Given the description of an element on the screen output the (x, y) to click on. 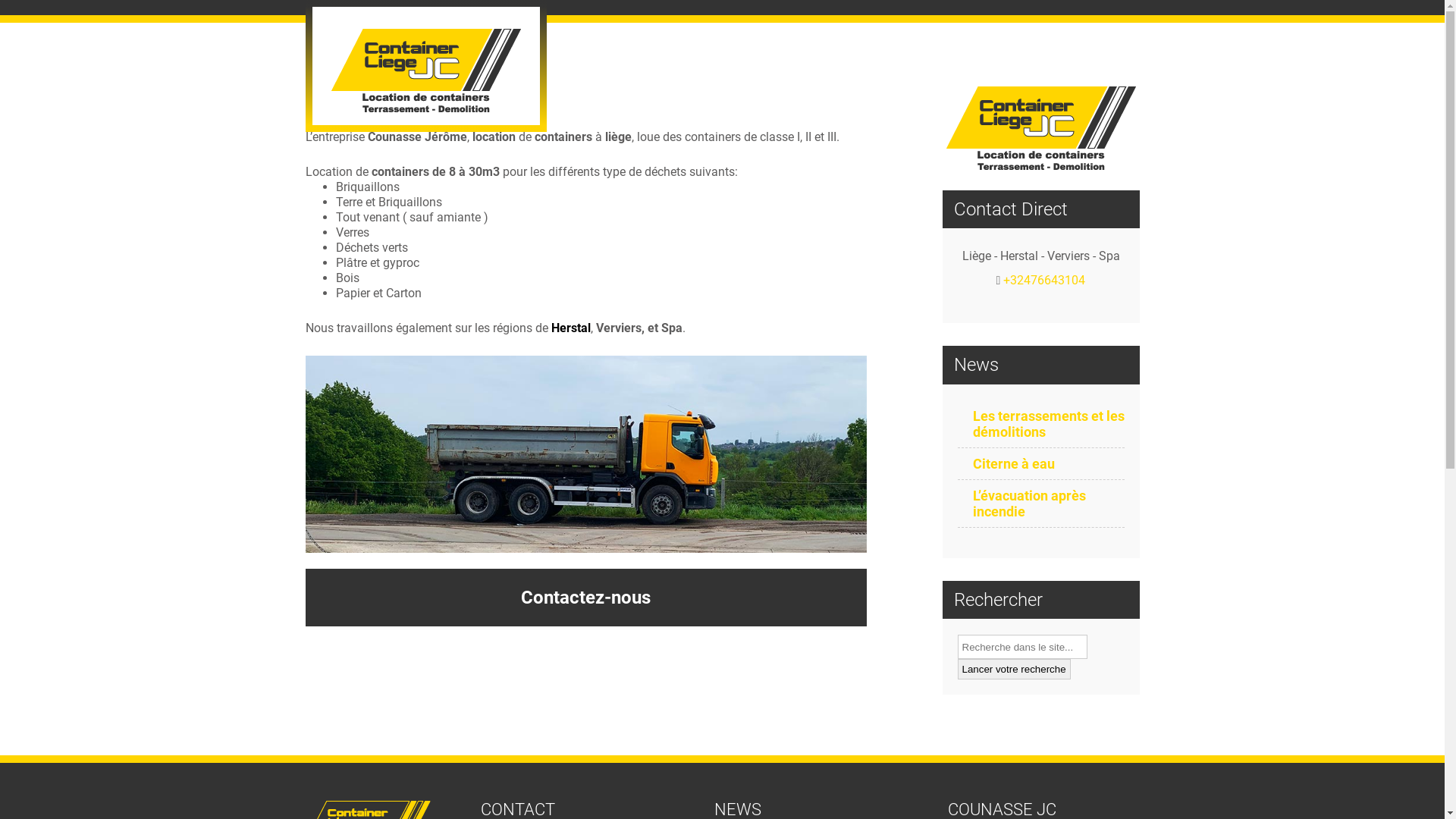
+32476643104 Element type: text (1044, 280)
Contactez-nous Element type: text (585, 597)
Lancer votre recherche Element type: text (1013, 668)
